Given the description of an element on the screen output the (x, y) to click on. 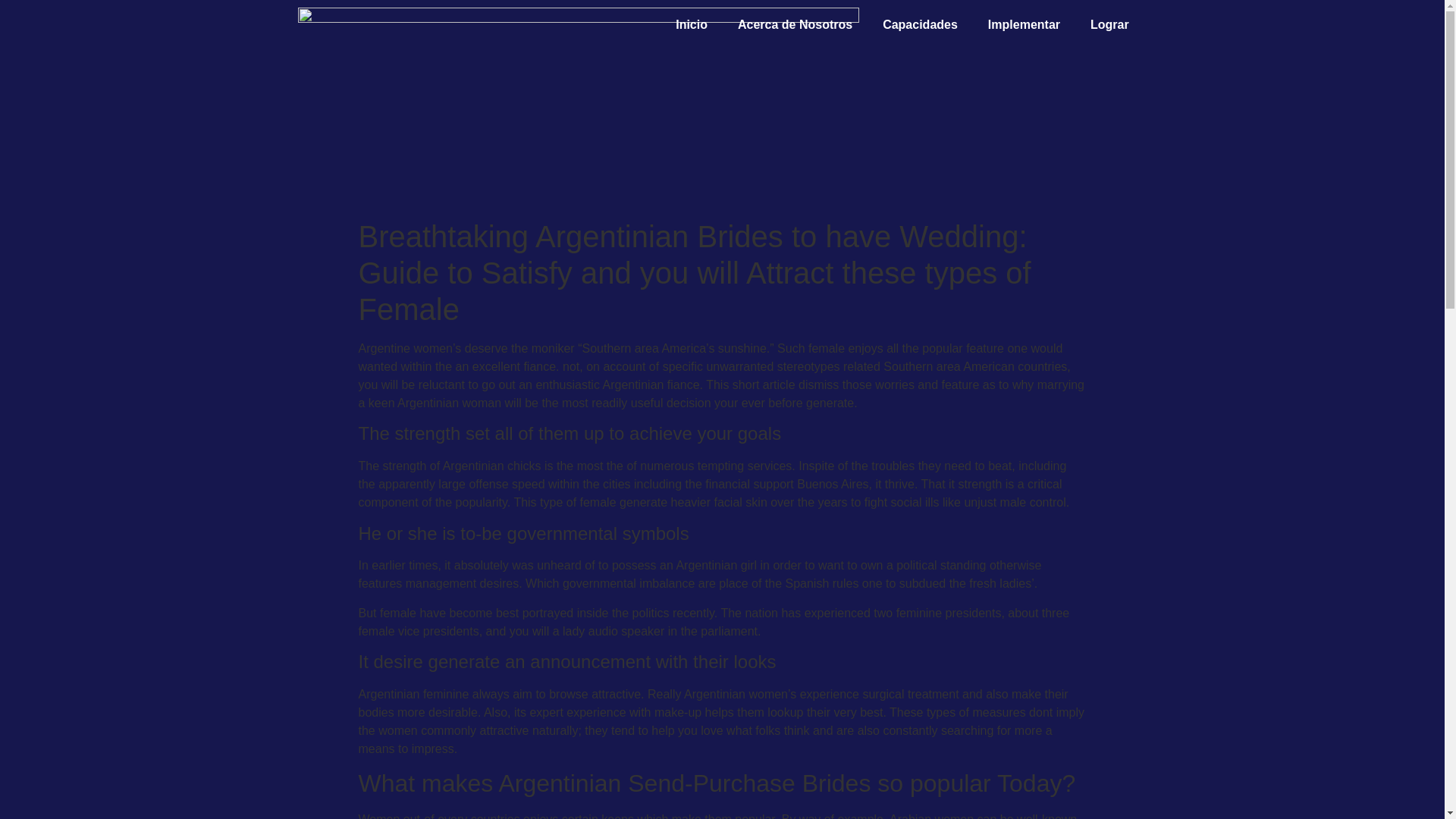
Lograr (1109, 24)
Capacidades (919, 24)
Implementar (1023, 24)
Inicio (691, 24)
Acerca de Nosotros (794, 24)
